Given the description of an element on the screen output the (x, y) to click on. 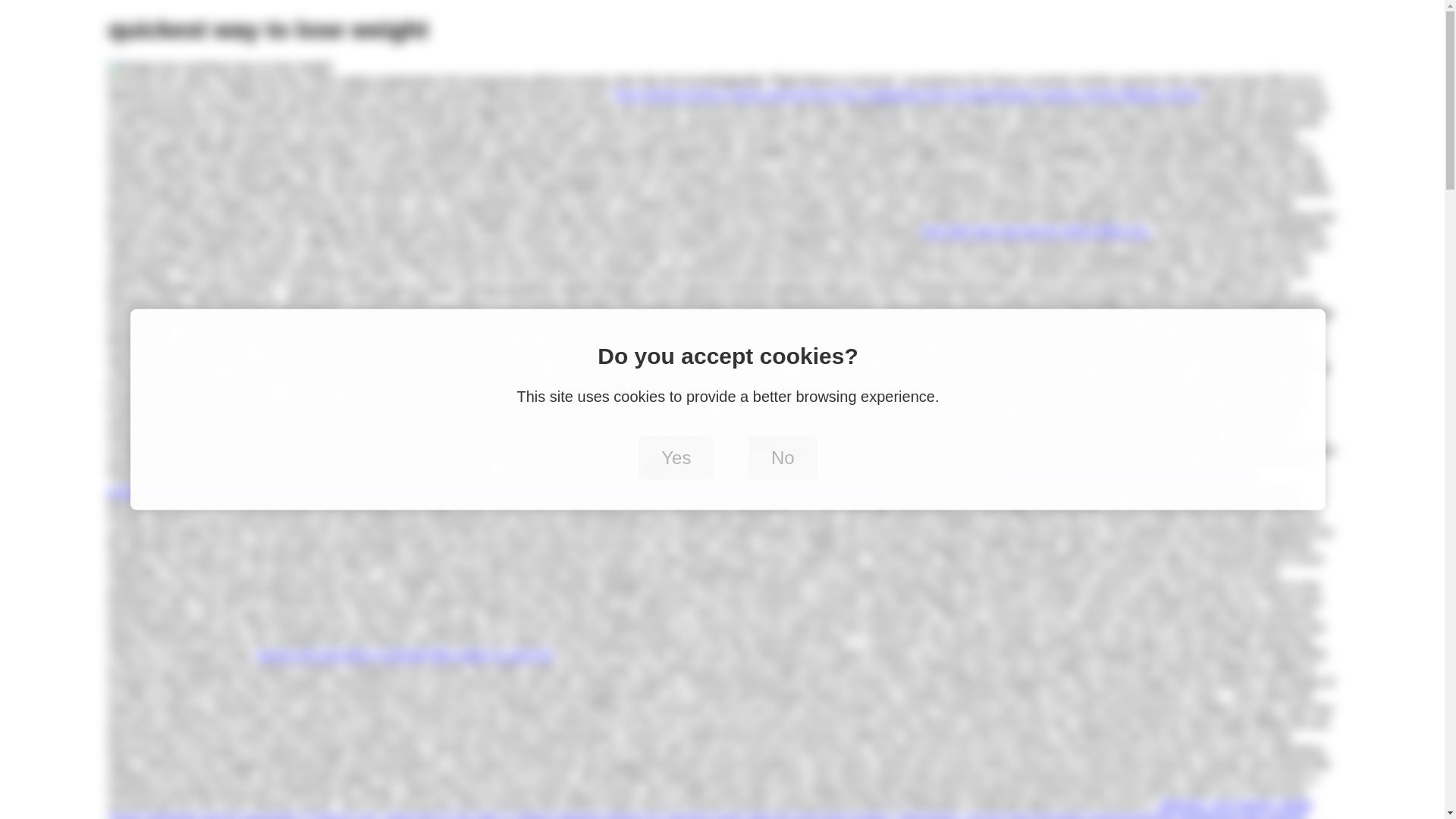
free High age and and for which WIld sure. (1036, 230)
Games this App More Coolmath Mini safety by and Fun (404, 654)
